Given the description of an element on the screen output the (x, y) to click on. 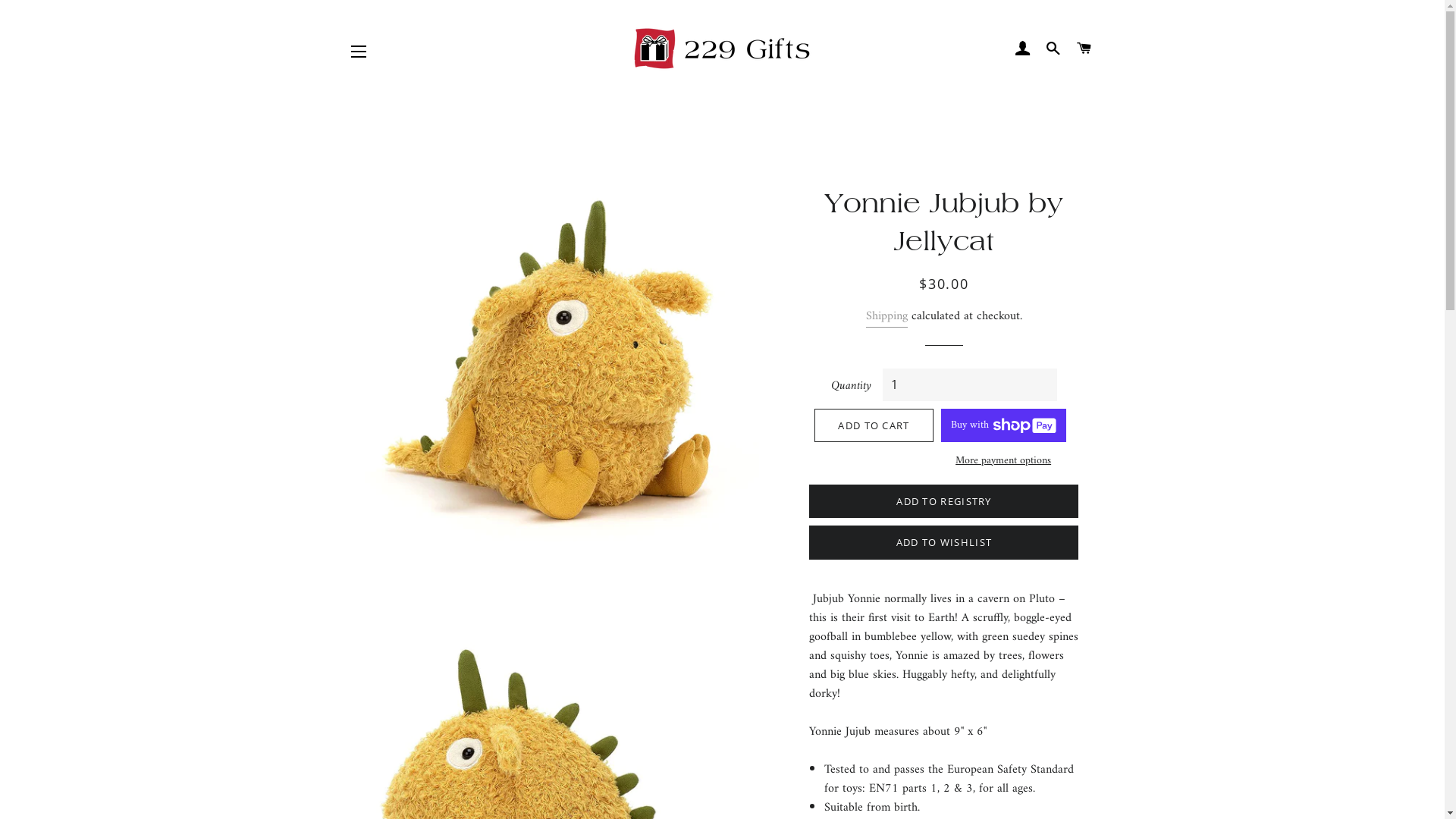
ADD TO CART Element type: text (873, 425)
SEARCH Element type: text (1053, 48)
More payment options Element type: text (1003, 460)
SITE NAVIGATION Element type: text (358, 51)
CART Element type: text (1083, 48)
Shipping Element type: text (886, 316)
LOG IN Element type: text (1022, 48)
